Given the description of an element on the screen output the (x, y) to click on. 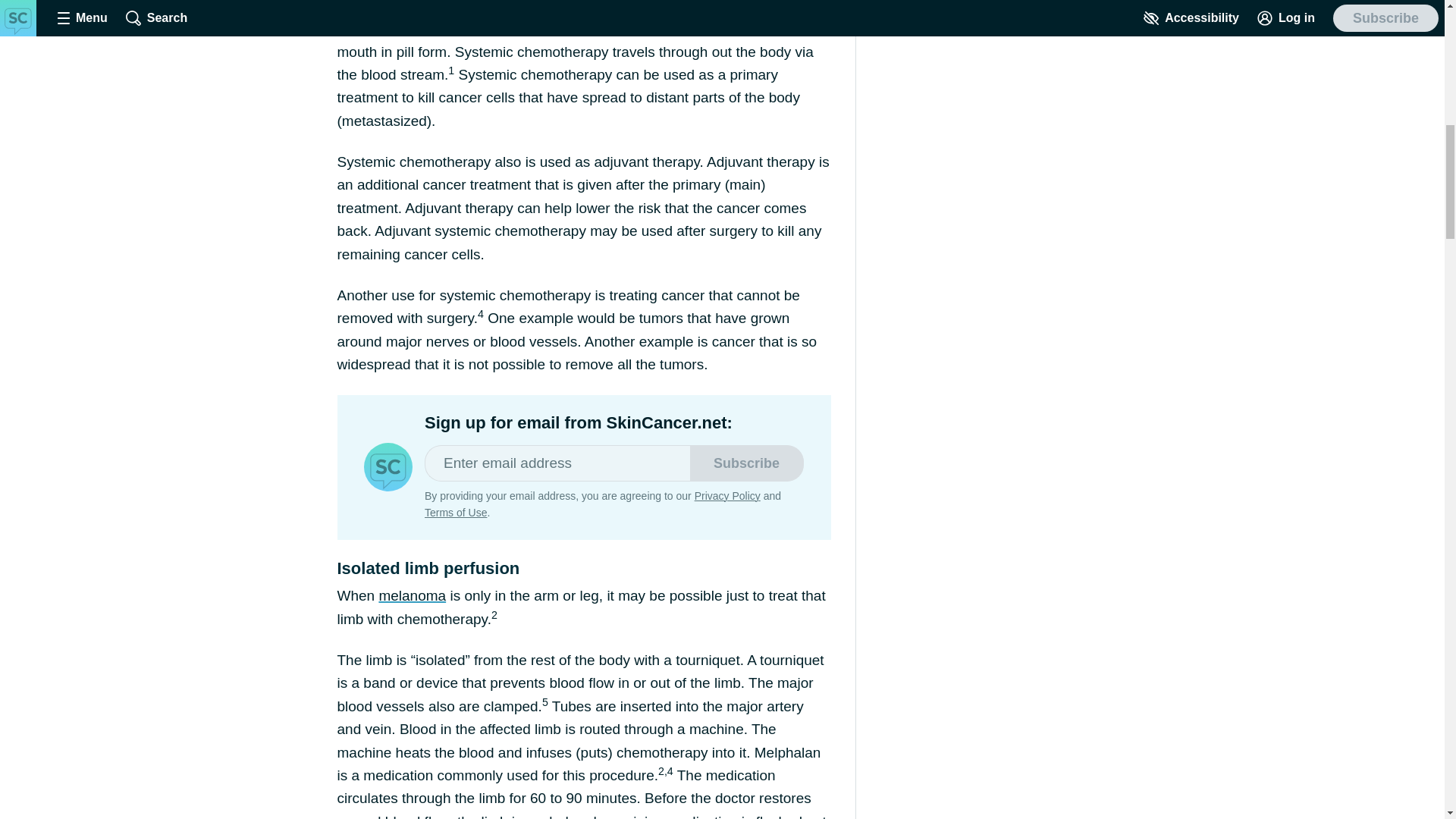
Privacy Policy (727, 495)
Terms of Use (455, 512)
melanoma (411, 595)
Subscribe (746, 463)
